Given the description of an element on the screen output the (x, y) to click on. 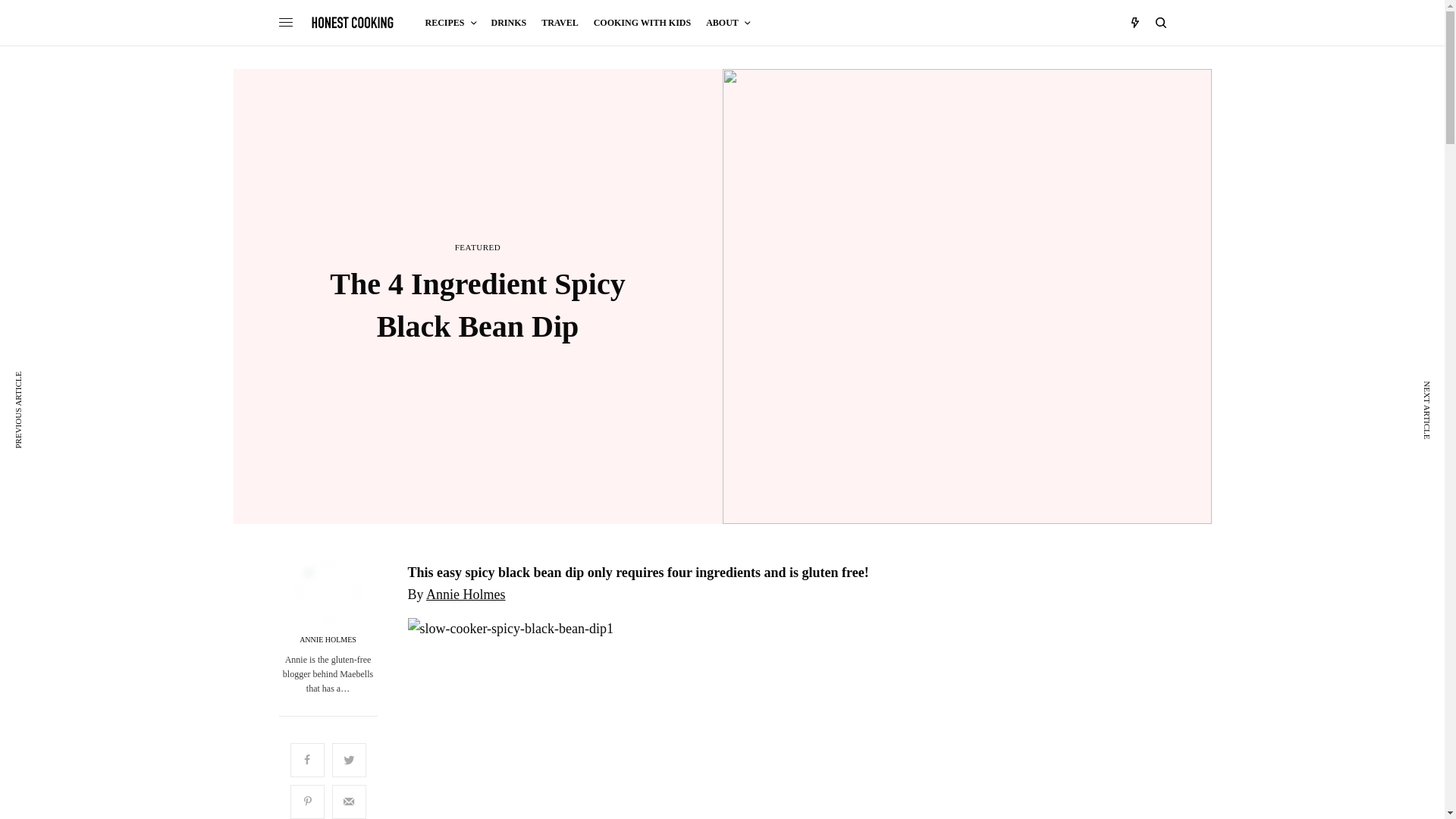
Annie Holmes (465, 594)
ANNIE HOLMES (328, 639)
DRINKS (509, 22)
TRAVEL (559, 22)
Honest Cooking (352, 22)
RECIPES (450, 22)
FEATURED (477, 247)
COOKING WITH KIDS (642, 22)
ABOUT (727, 22)
